Given the description of an element on the screen output the (x, y) to click on. 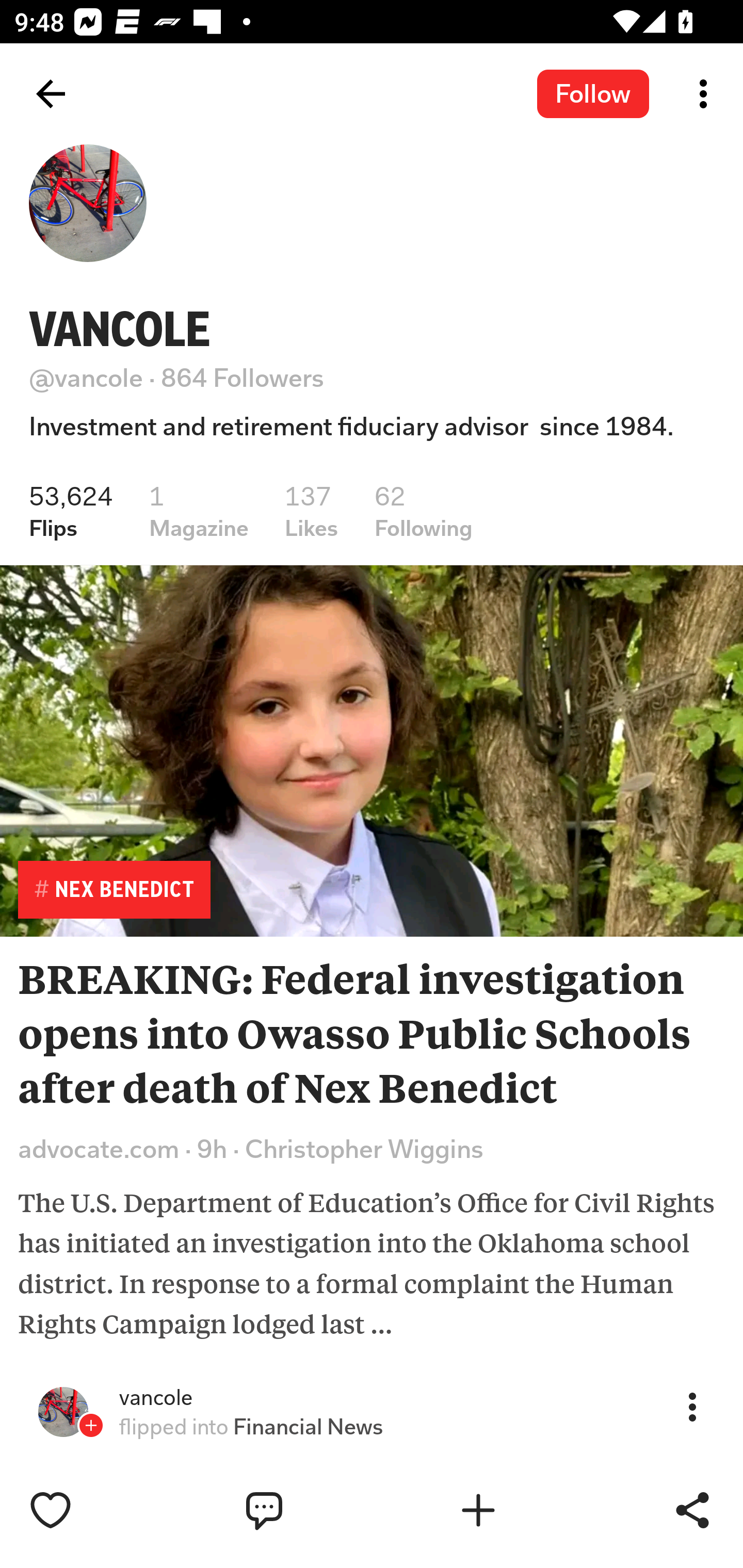
Back (50, 93)
More options (706, 93)
Follow (593, 92)
VANCOLE (119, 328)
@vancole (85, 377)
864 Followers (242, 377)
53,624 Flips (70, 510)
1 Magazine (198, 510)
137 Likes (311, 510)
62 Following (423, 510)
# NEX BENEDICT (113, 889)
More (692, 1406)
vancole (155, 1397)
flipped into Financial News (250, 1426)
Like (93, 1509)
Write a comment… (307, 1509)
Flip into Magazine (521, 1509)
Share (692, 1509)
